Given the description of an element on the screen output the (x, y) to click on. 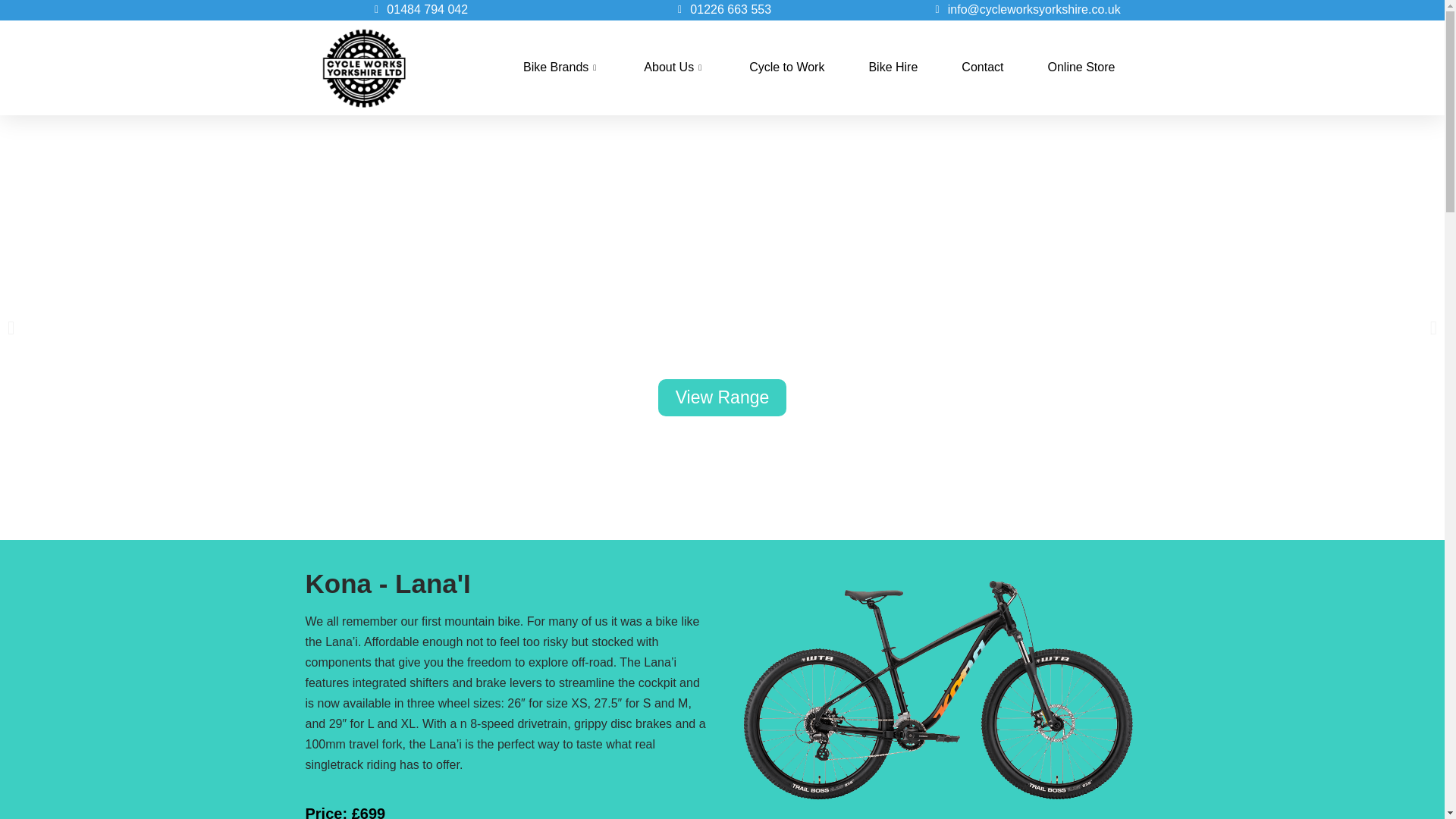
Bike Brands (560, 68)
01484 794 042 (418, 10)
Online Store (1081, 68)
Cycle-Works-Logo- (364, 67)
Cycle to Work (785, 68)
01226 663 553 (721, 10)
About Us (673, 68)
Skip to content (15, 7)
Contact (982, 68)
Bike Hire (892, 68)
